Given the description of an element on the screen output the (x, y) to click on. 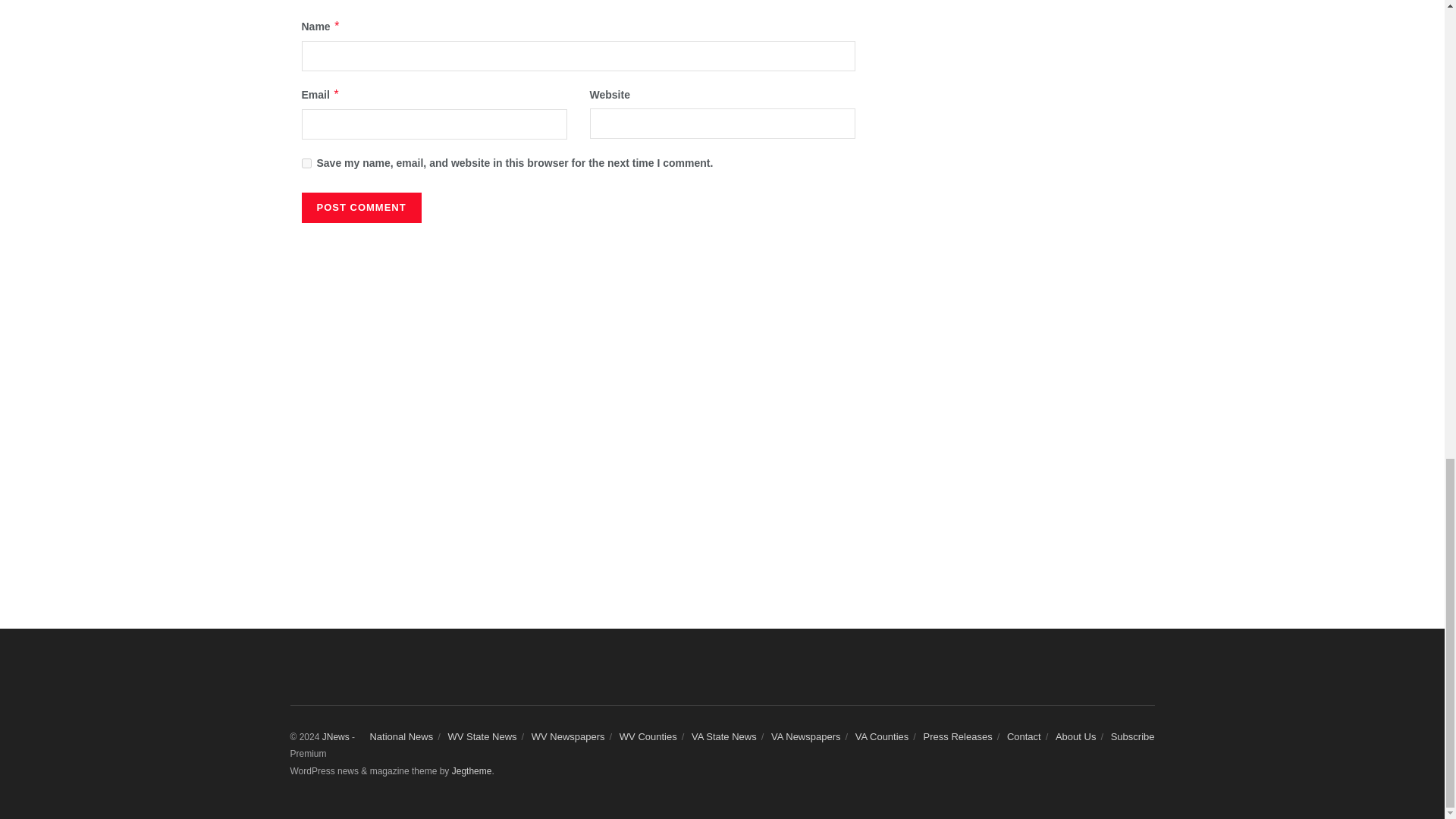
Post Comment (361, 207)
yes (306, 163)
Jegtheme (471, 770)
Advertisement (1028, 41)
